Given the description of an element on the screen output the (x, y) to click on. 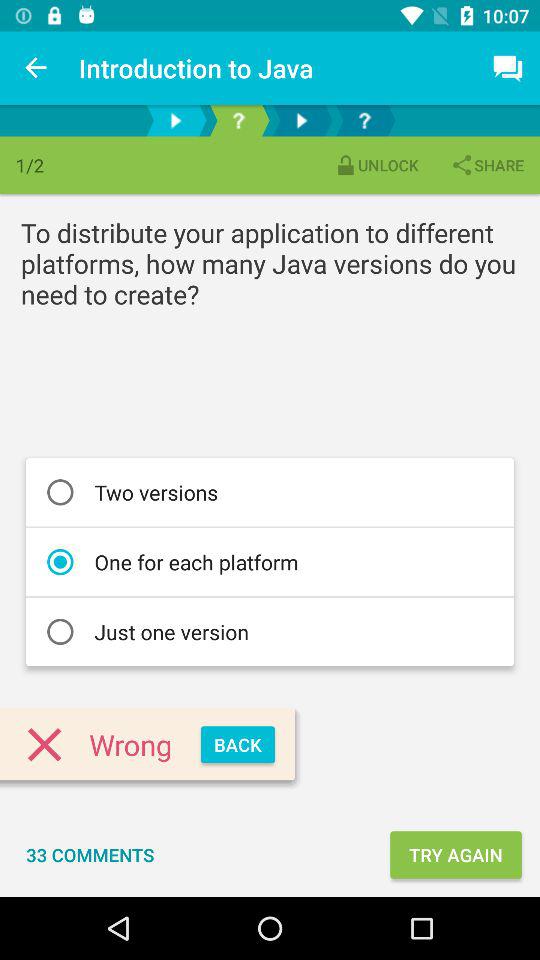
question (238, 120)
